Given the description of an element on the screen output the (x, y) to click on. 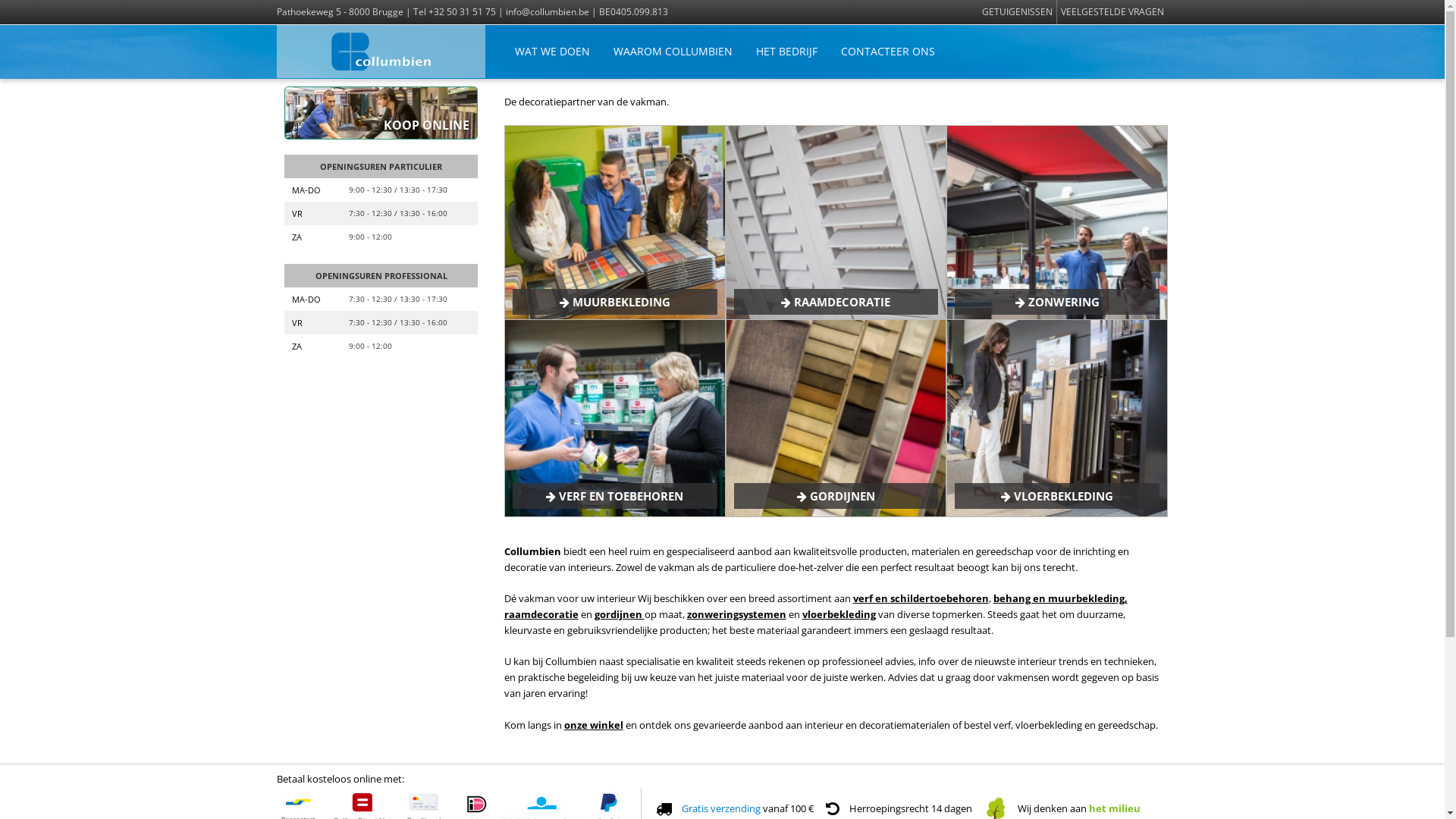
Raamdecoratie Element type: hover (836, 224)
verf en schildertoebehoren Element type: text (920, 598)
Zonwering Element type: hover (1057, 224)
info@collumbien.be Element type: text (547, 11)
Muurbekleding Element type: hover (614, 224)
GETUIGENISSEN Element type: text (1017, 12)
Herroepingsrecht 14 dagen Element type: text (910, 808)
Vloerbekleding Element type: hover (1057, 418)
HET BEDRIJF Element type: text (786, 51)
zonweringsystemen Element type: text (736, 614)
VEELGESTELDE VRAGEN Element type: text (1112, 12)
+32 50 31 51 75 Element type: text (460, 11)
CONTACTEER ONS Element type: text (887, 51)
Gordijnen Element type: hover (836, 418)
gordijnen Element type: text (619, 614)
Verf en toebehoren Element type: hover (614, 418)
vloerbekleding Element type: text (838, 614)
raamdecoratie Element type: text (541, 614)
onze winkel Element type: text (593, 724)
WAAROM COLLUMBIEN Element type: text (672, 51)
KOOP ONLINE Element type: text (381, 112)
behang en muurbekleding, Element type: text (1060, 598)
Wij denken aan het milieu Element type: text (1062, 808)
WAT WE DOEN Element type: text (552, 51)
